Given the description of an element on the screen output the (x, y) to click on. 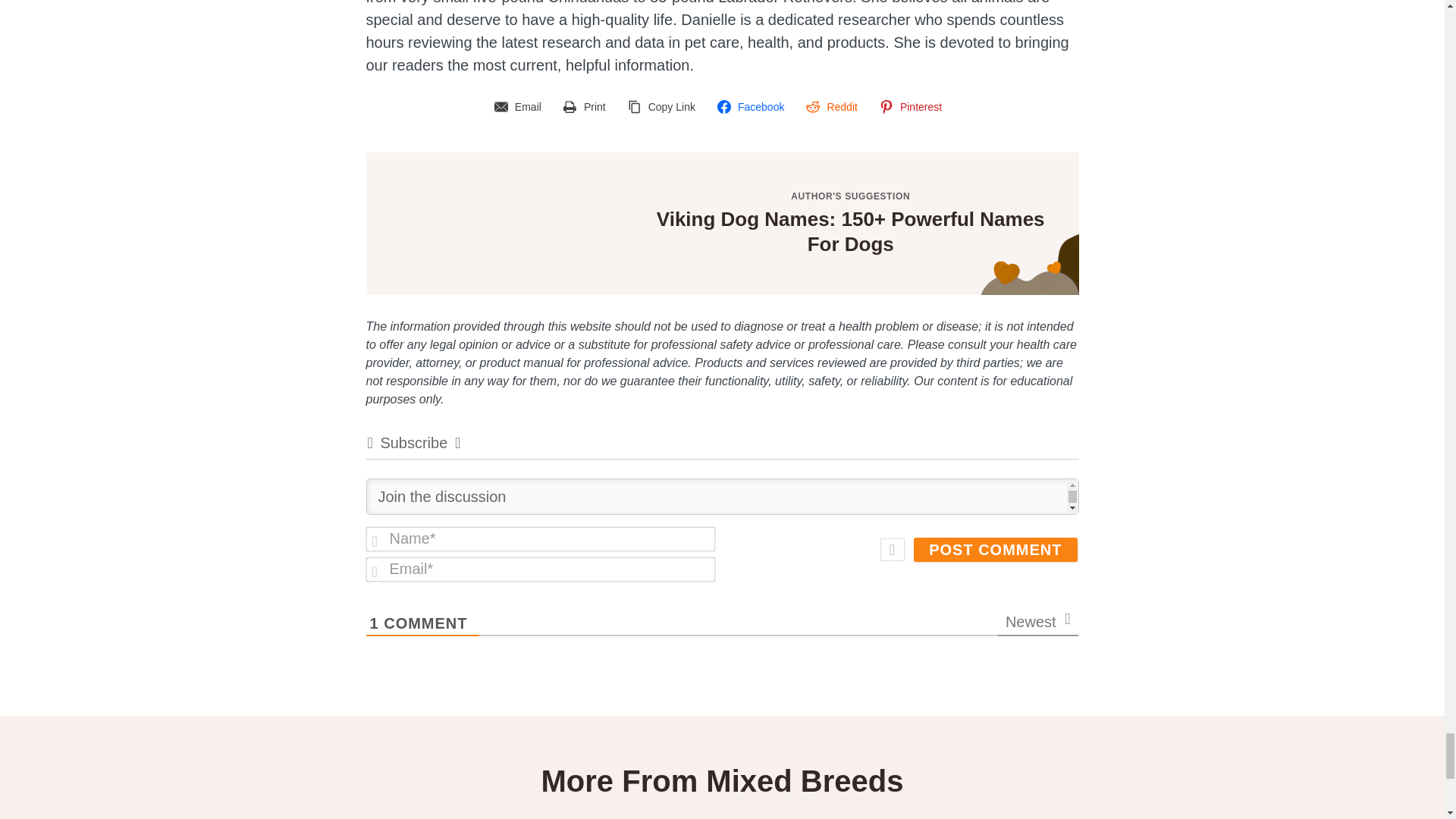
Post Comment (995, 549)
